Given the description of an element on the screen output the (x, y) to click on. 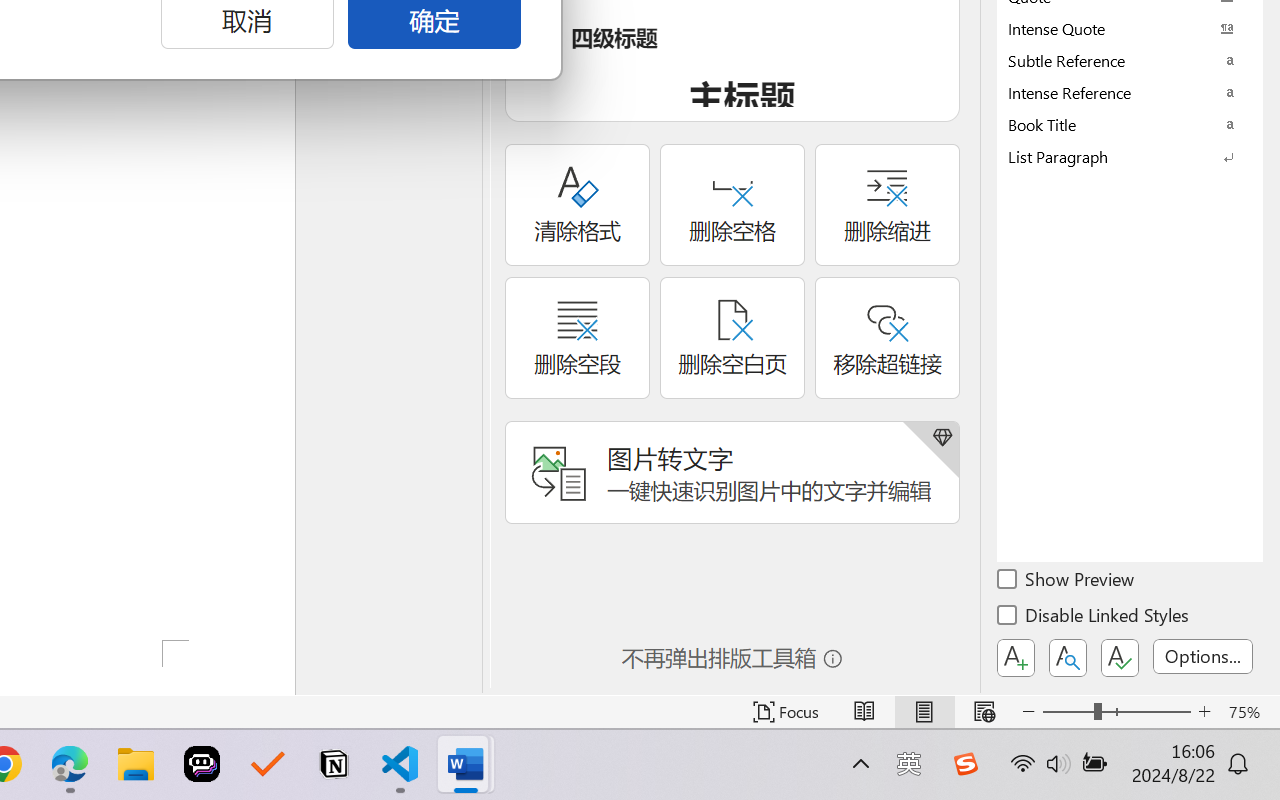
Class: NetUIImage (1116, 156)
Zoom (1116, 712)
Book Title (1130, 124)
Disable Linked Styles (1094, 618)
Zoom In (1204, 712)
Show Preview (1067, 582)
